Given the description of an element on the screen output the (x, y) to click on. 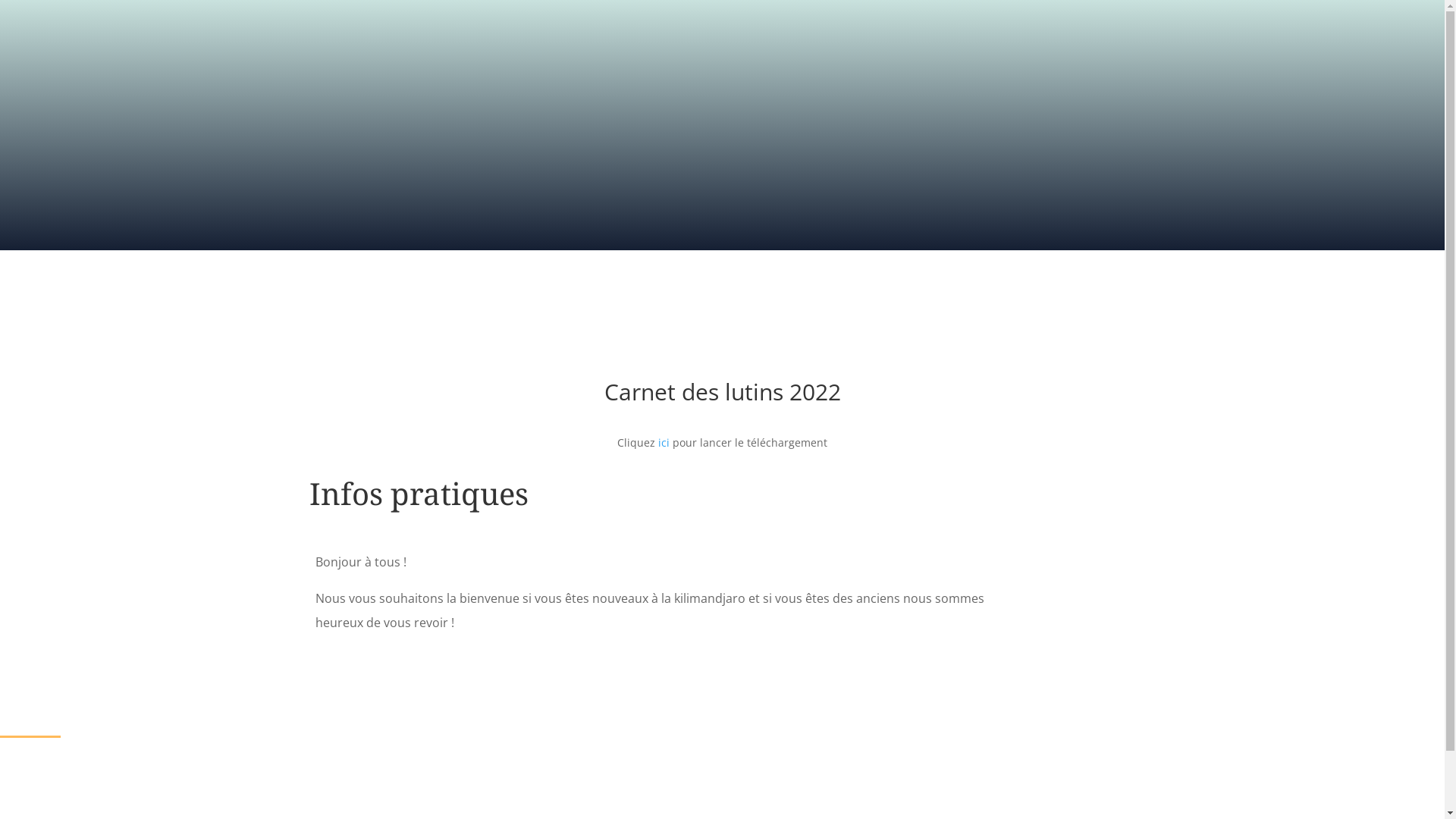
Infos pratiques Element type: text (418, 493)
ici Element type: text (663, 442)
